Given the description of an element on the screen output the (x, y) to click on. 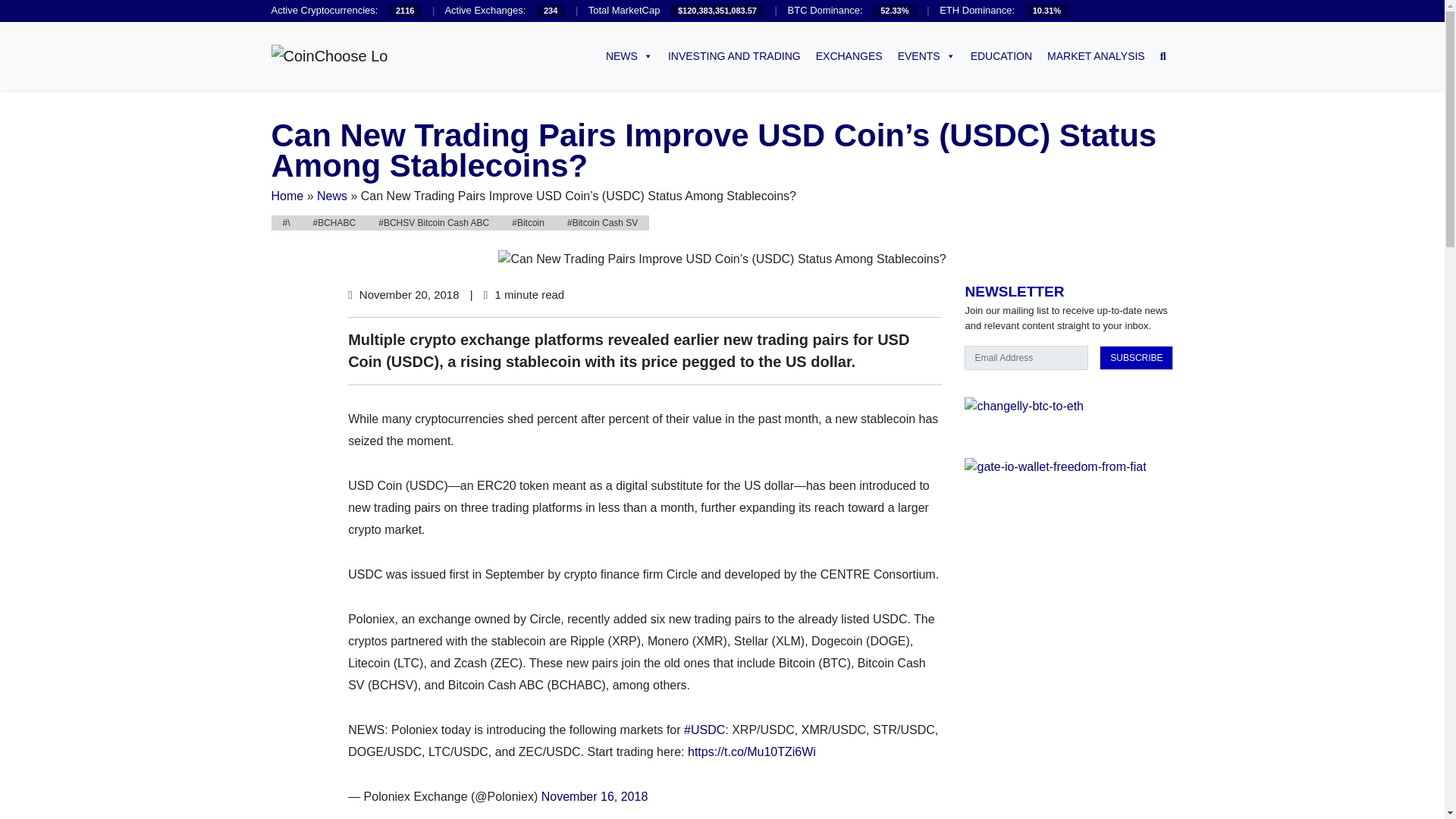
EXCHANGES (848, 56)
INVESTING AND TRADING (734, 56)
EDUCATION (1000, 56)
MARKET ANALYSIS (1096, 56)
NEWS (629, 56)
CoinChoose Logo (328, 56)
November 16, 2018 (594, 796)
EVENTS (925, 56)
Home (287, 195)
SUBSCRIBE (1136, 357)
News (332, 195)
